Given the description of an element on the screen output the (x, y) to click on. 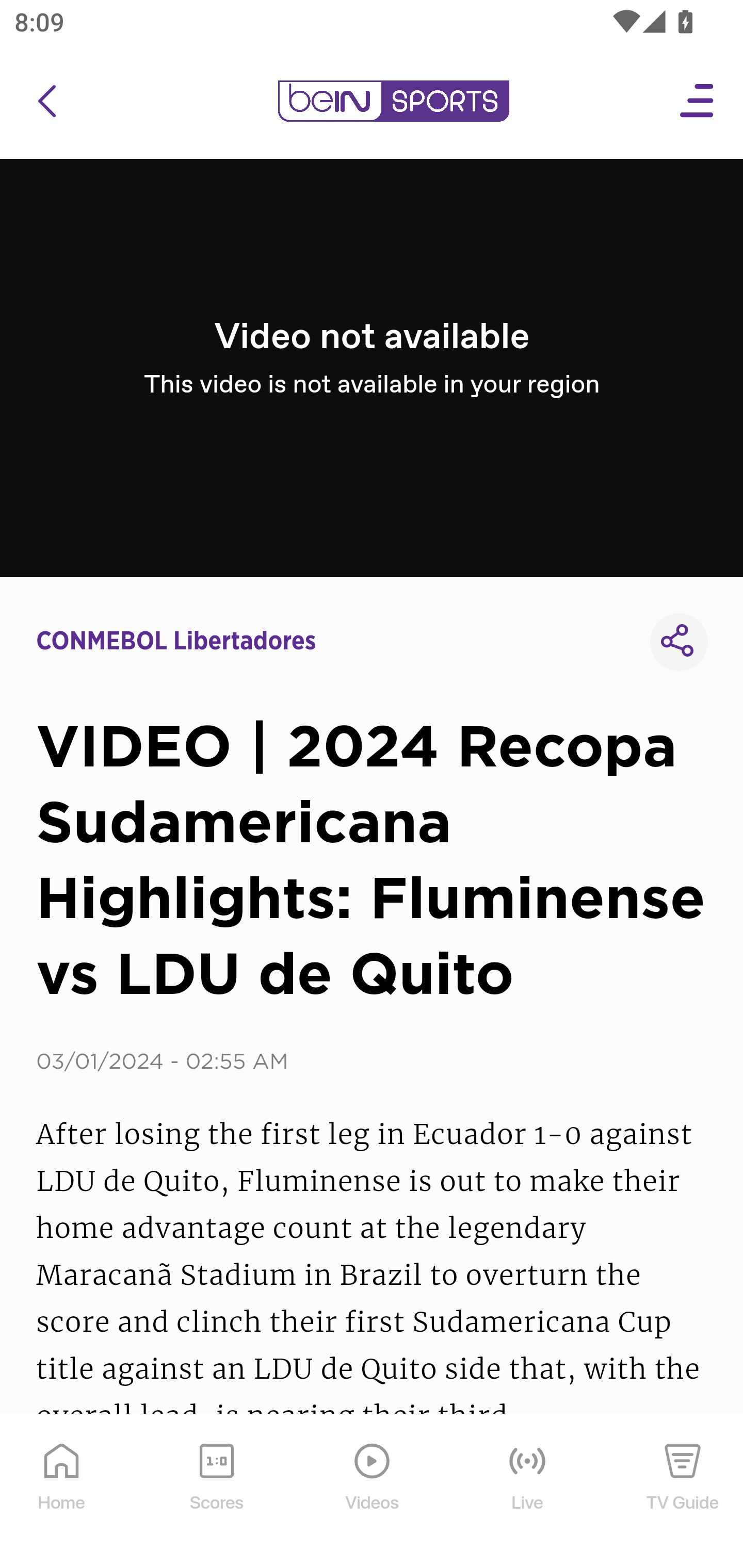
en-us?platform=mobile_android bein logo (392, 101)
icon back (46, 101)
Open Menu Icon (697, 101)
Home Home Icon Home (61, 1491)
Scores Scores Icon Scores (216, 1491)
Videos Videos Icon Videos (372, 1491)
TV Guide TV Guide Icon TV Guide (682, 1491)
